Given the description of an element on the screen output the (x, y) to click on. 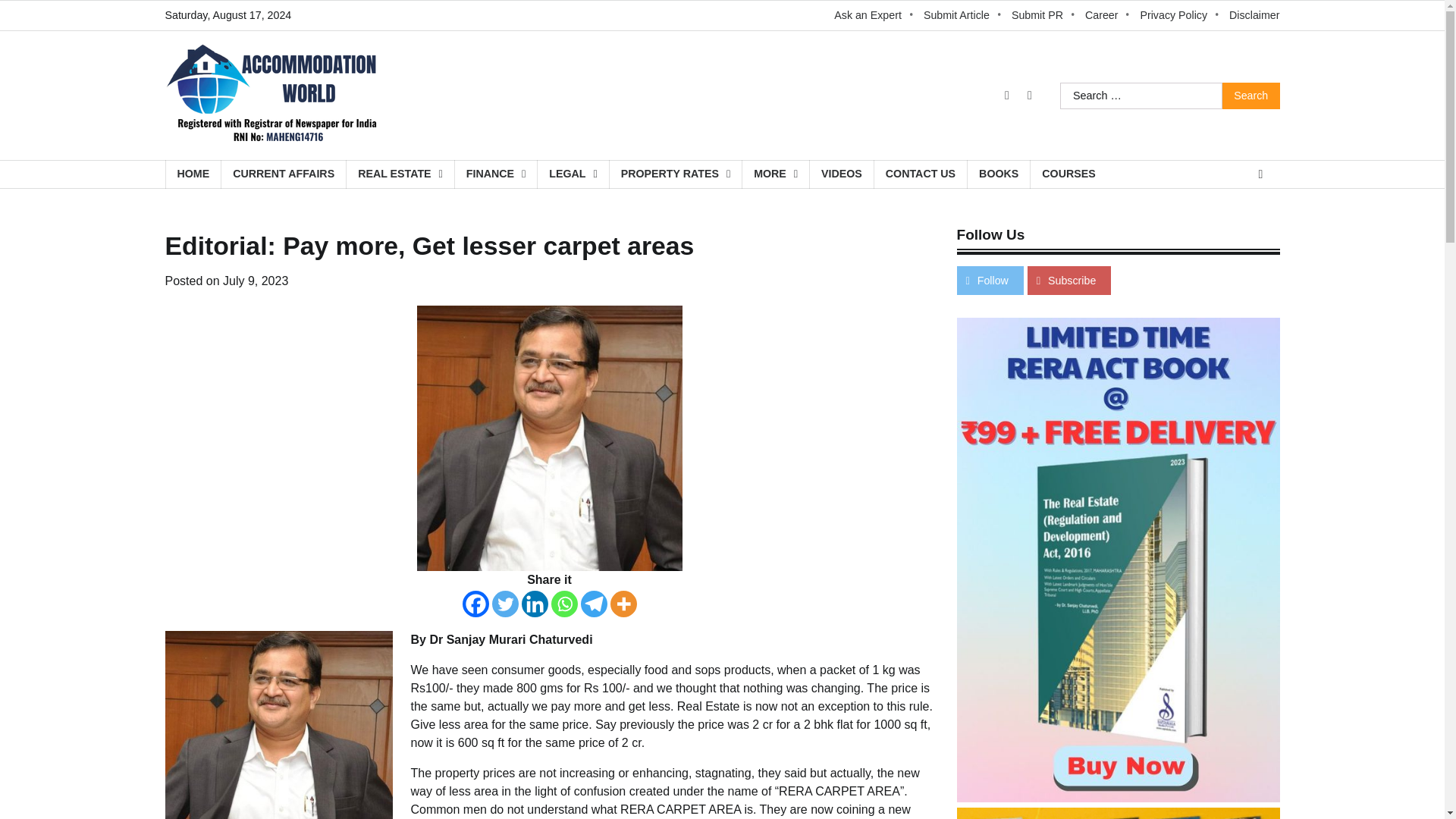
youtube (1029, 95)
Search (1251, 95)
Search (1251, 95)
Ask an Expert (874, 15)
Submit Article (963, 15)
Submit PR (1044, 15)
REAL ESTATE (400, 173)
twitter (1006, 95)
HOME (193, 173)
Disclaimer (1253, 15)
